Given the description of an element on the screen output the (x, y) to click on. 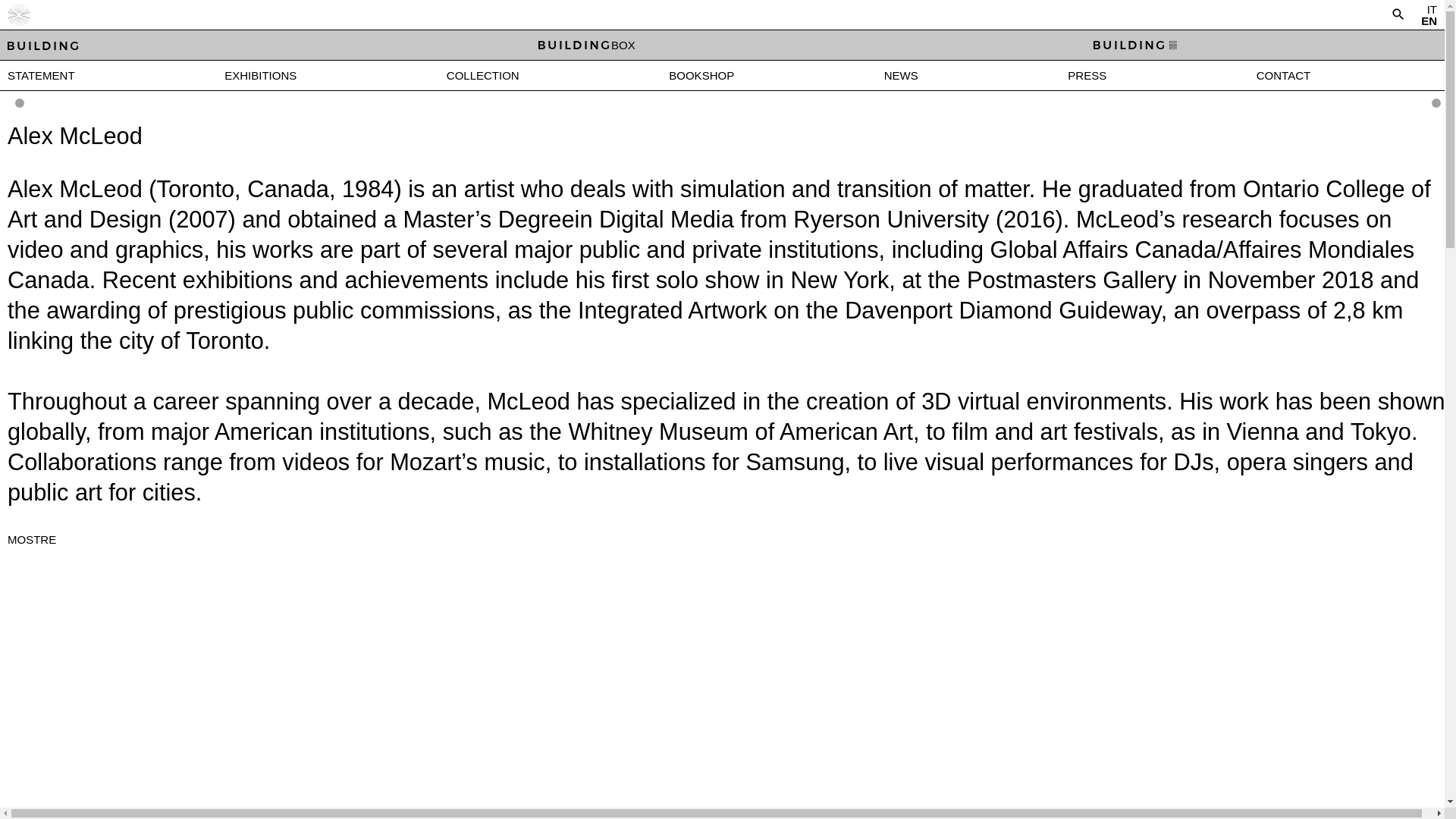
EN (1429, 20)
EN (1429, 20)
